Given the description of an element on the screen output the (x, y) to click on. 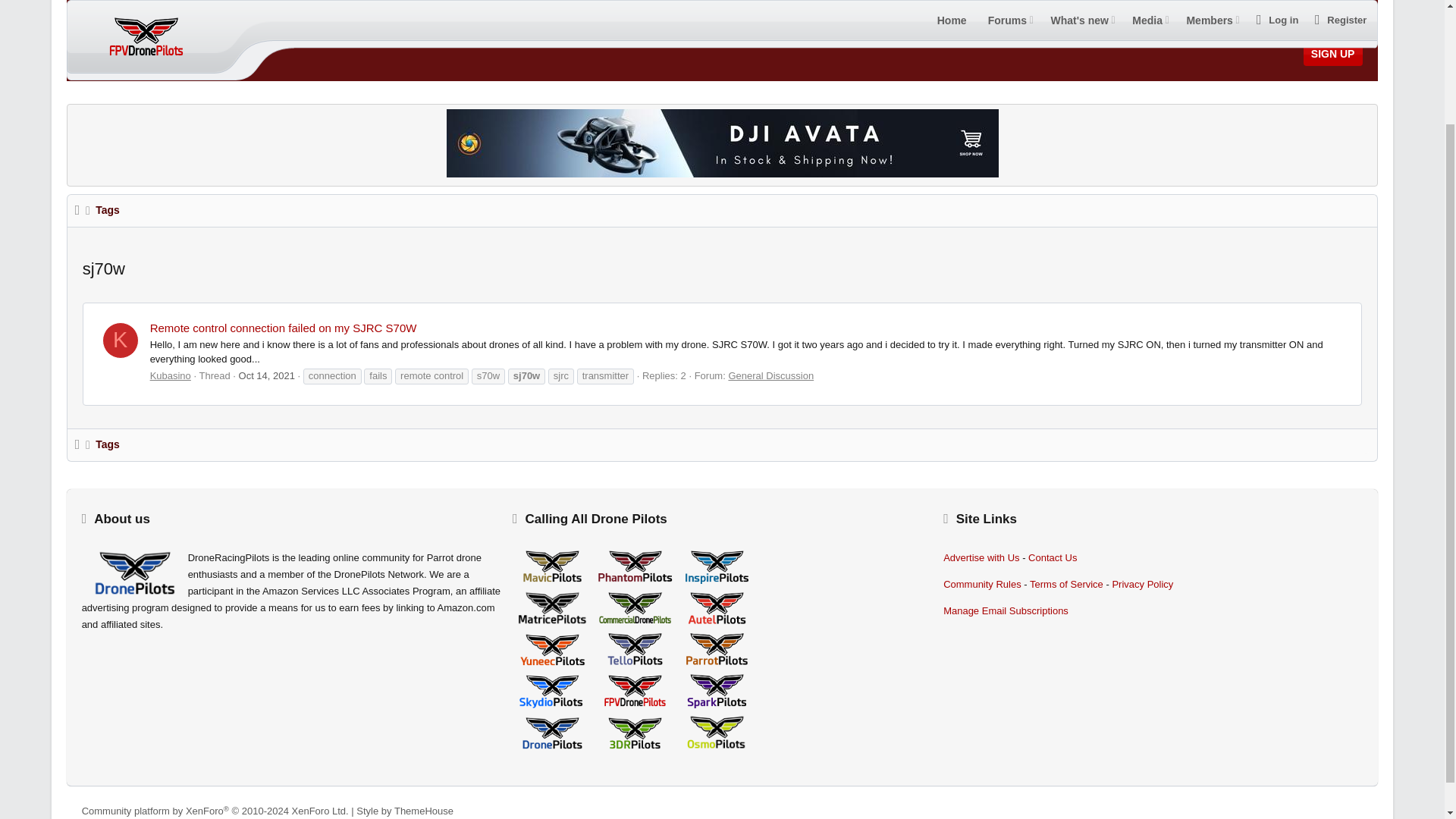
Matrice Drone Pilots Community Logo (552, 607)
DJI Phantom Pilots Logo (634, 566)
Skydio Community Logo (552, 691)
Oct 14, 2021 at 1:41 PM (266, 375)
Yuneec Pilots Forum Logo (552, 650)
DJI Mavic Pilots Logo (552, 566)
Parrot Pilots Logo (717, 649)
Tello Drone Pilots Forum Logo (634, 649)
AutelPilots Drone Community Logo (717, 608)
DronePilots.zone Logo (134, 573)
